Given the description of an element on the screen output the (x, y) to click on. 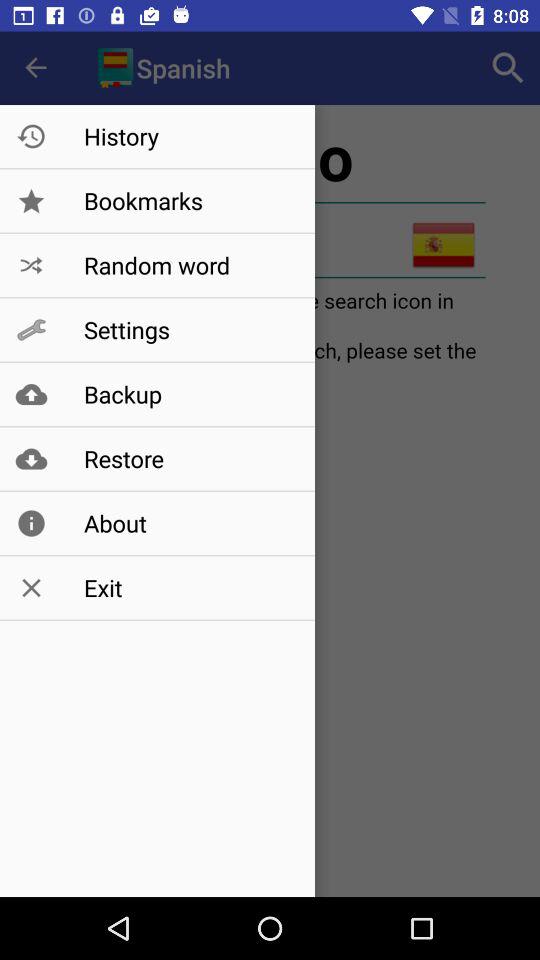
jump until the exit icon (188, 587)
